Given the description of an element on the screen output the (x, y) to click on. 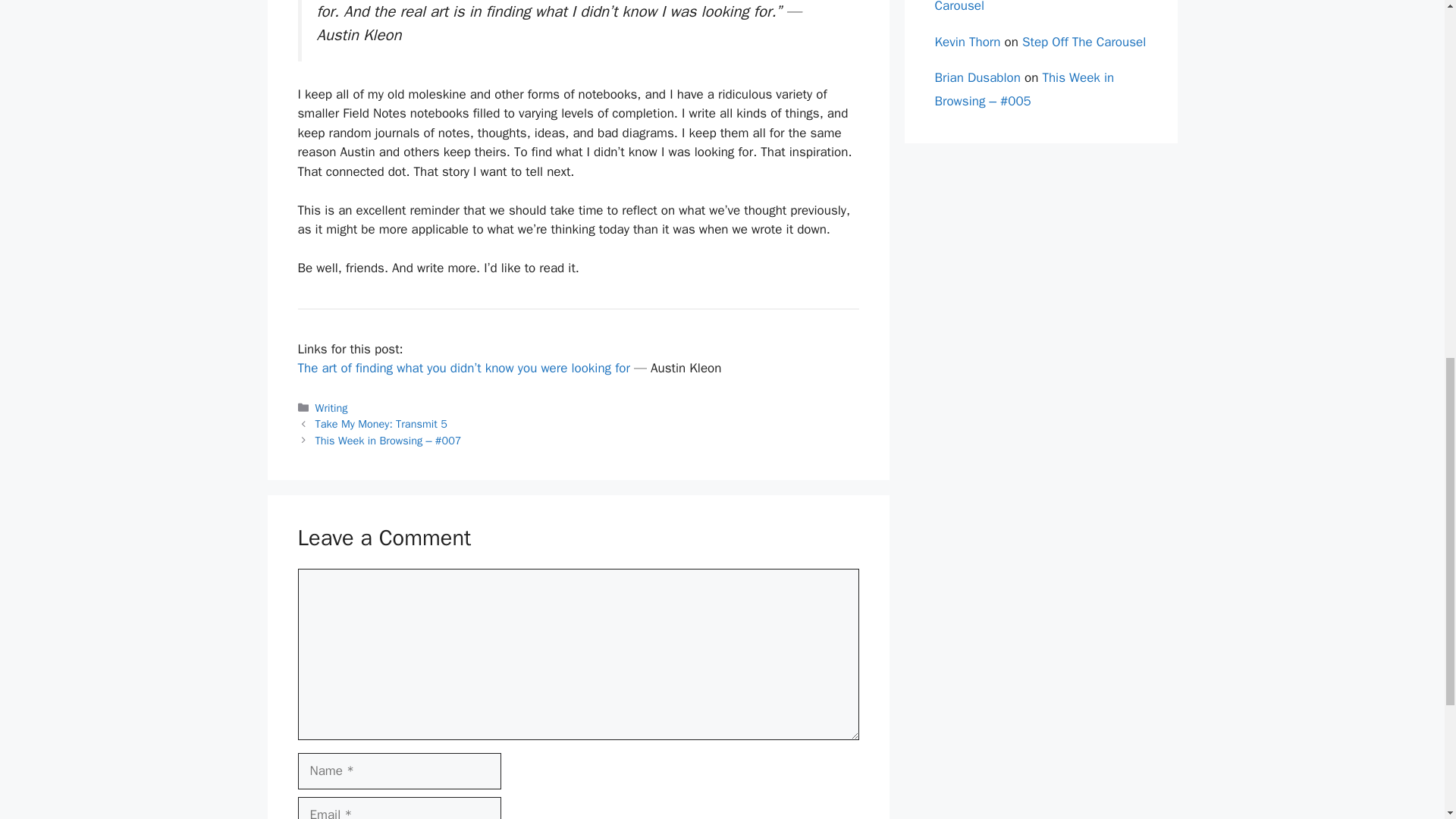
Kevin Thorn (967, 41)
Step Off The Carousel (1023, 6)
Brian Dusablon (977, 77)
Take My Money: Transmit 5 (380, 423)
Step Off The Carousel (1083, 41)
Writing (331, 407)
